Given the description of an element on the screen output the (x, y) to click on. 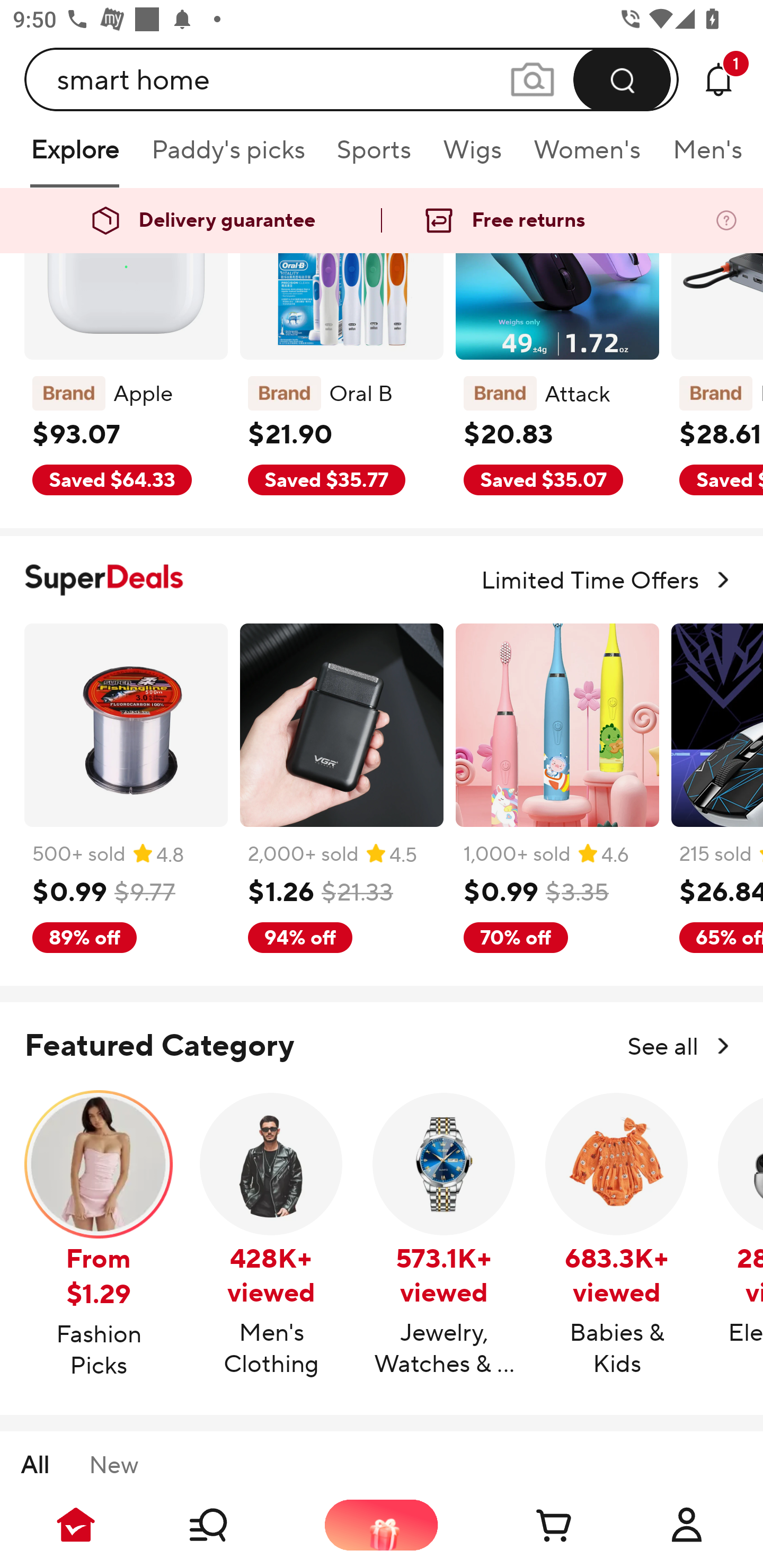
smart home (351, 79)
Paddy's picks (227, 155)
Sports (373, 155)
Wigs (472, 155)
Women's (586, 155)
Men's (701, 155)
From $1.29 Fashion Picks (98, 1235)
428K+ viewed Men's Clothing (270, 1235)
573.1K+ viewed Jewelry, Watches & Accessories (444, 1235)
683.3K+ viewed Babies & Kids (616, 1235)
New (113, 1465)
Shop (228, 1524)
Cart (533, 1524)
Account (686, 1524)
